Given the description of an element on the screen output the (x, y) to click on. 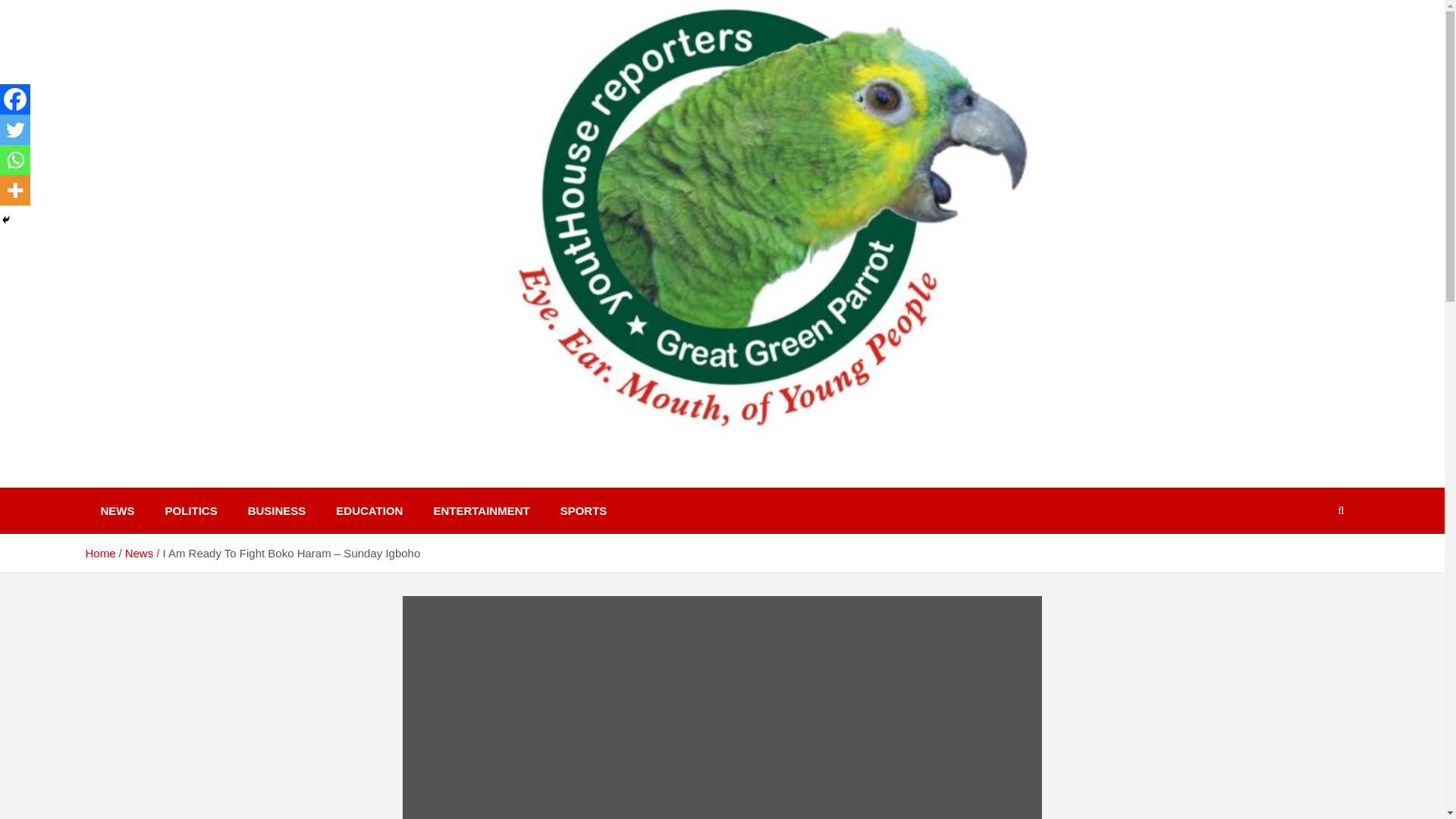
ENTERTAINMENT (480, 510)
Whatsapp (15, 159)
SPORTS (583, 510)
youtHouse reporters (233, 480)
NEWS (116, 510)
POLITICS (190, 510)
Home (99, 553)
Twitter (15, 129)
News (139, 553)
More (15, 190)
Hide (5, 219)
EDUCATION (368, 510)
Facebook (15, 99)
BUSINESS (276, 510)
